Given the description of an element on the screen output the (x, y) to click on. 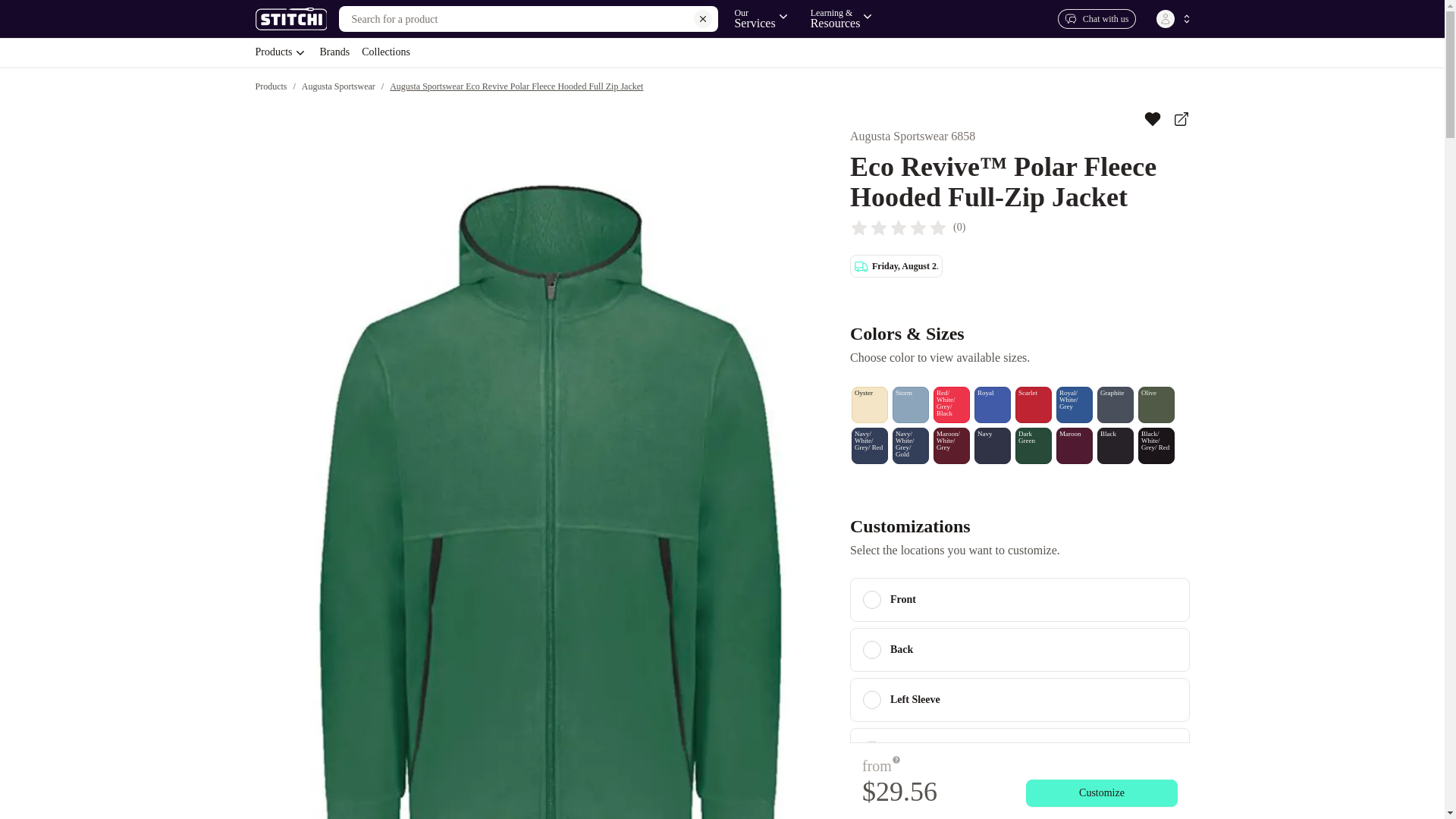
Products (280, 52)
Chat with us (1096, 18)
checked (761, 18)
checked (871, 599)
checked (871, 700)
checked (721, 52)
